Given the description of an element on the screen output the (x, y) to click on. 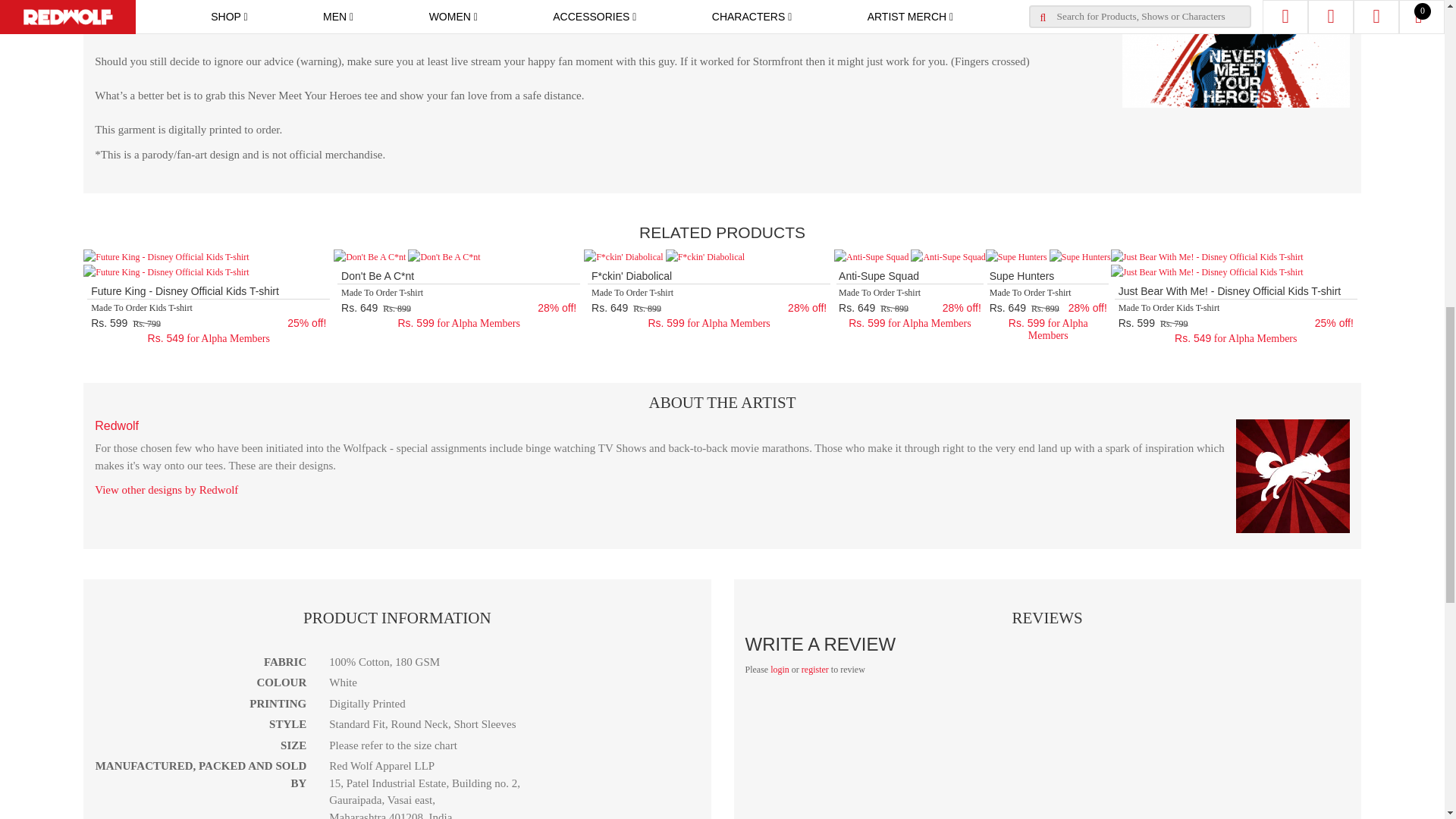
Just Bear With Me! - Disney Official Kids T-shirt (1206, 256)
Future King - Disney Official Kids T-shirt (165, 256)
Anti-Supe Squad (871, 256)
Supe Hunters (1015, 256)
